Given the description of an element on the screen output the (x, y) to click on. 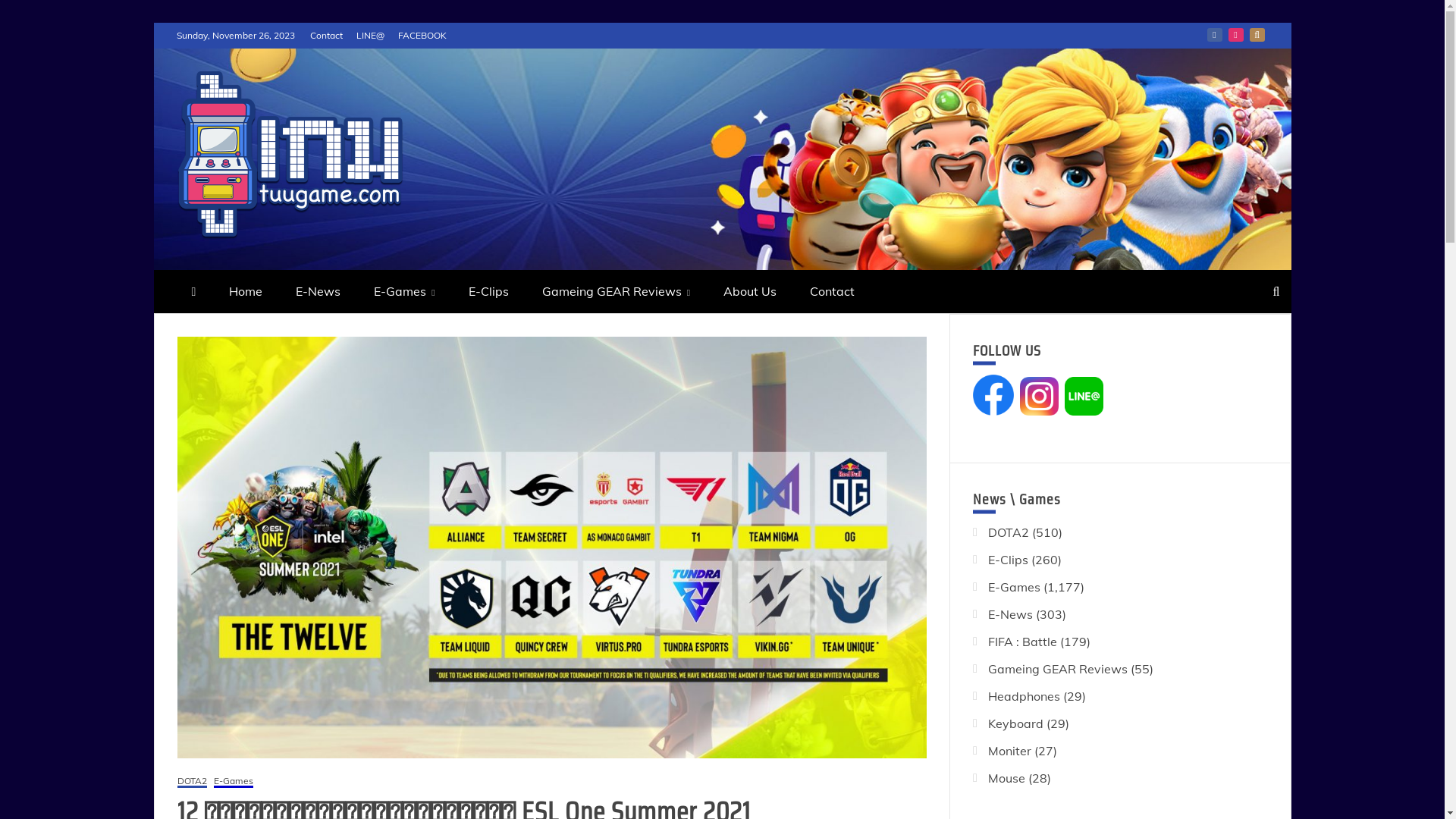
Contact Element type: text (325, 34)
Mouse Element type: text (1006, 777)
PAGE Element type: text (1214, 34)
E-News Element type: text (1010, 613)
    Element type: text (1018, 410)
E-News Element type: text (317, 291)
FACEBOOK Element type: text (421, 34)
E-Games Element type: text (233, 781)
Moniter Element type: text (1009, 750)
Skip to content Element type: text (153, 21)
Gameing GEAR Reviews Element type: text (1057, 668)
E-Clips Element type: text (1008, 559)
Headphones Element type: text (1024, 695)
Home Element type: text (245, 291)
E-Games Element type: text (403, 291)
Gameing GEAR Reviews Element type: text (616, 291)
DOTA2 Element type: text (192, 781)
Keyboard Element type: text (1015, 723)
Instragram Element type: text (1235, 34)
FIFA : Battle Element type: text (1022, 641)
LINE@ Element type: text (1256, 34)
Search Element type: text (31, 13)
LINE@ Element type: text (370, 34)
E-Clips Element type: text (488, 291)
E-Games Element type: text (1014, 586)
DOTA2 Element type: text (1008, 531)
Contact Element type: text (831, 291)
About Us Element type: text (749, 291)
